Given the description of an element on the screen output the (x, y) to click on. 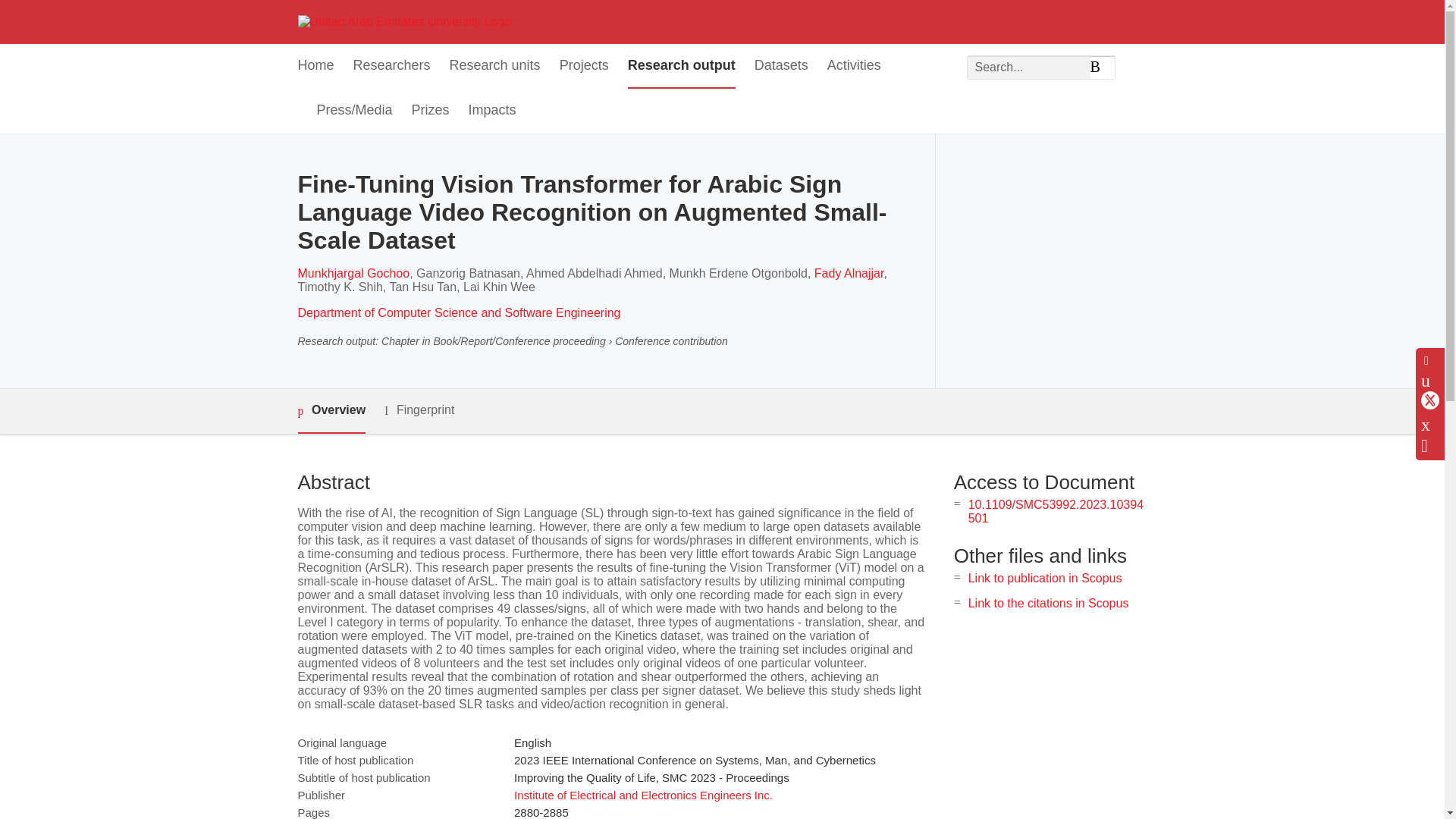
Researchers (391, 66)
Activities (853, 66)
Munkhjargal Gochoo (353, 273)
Fingerprint (419, 410)
United Arab Emirates University Home (404, 21)
Datasets (781, 66)
Link to the citations in Scopus (1048, 603)
Projects (583, 66)
Link to publication in Scopus (1045, 577)
Research output (681, 66)
